Given the description of an element on the screen output the (x, y) to click on. 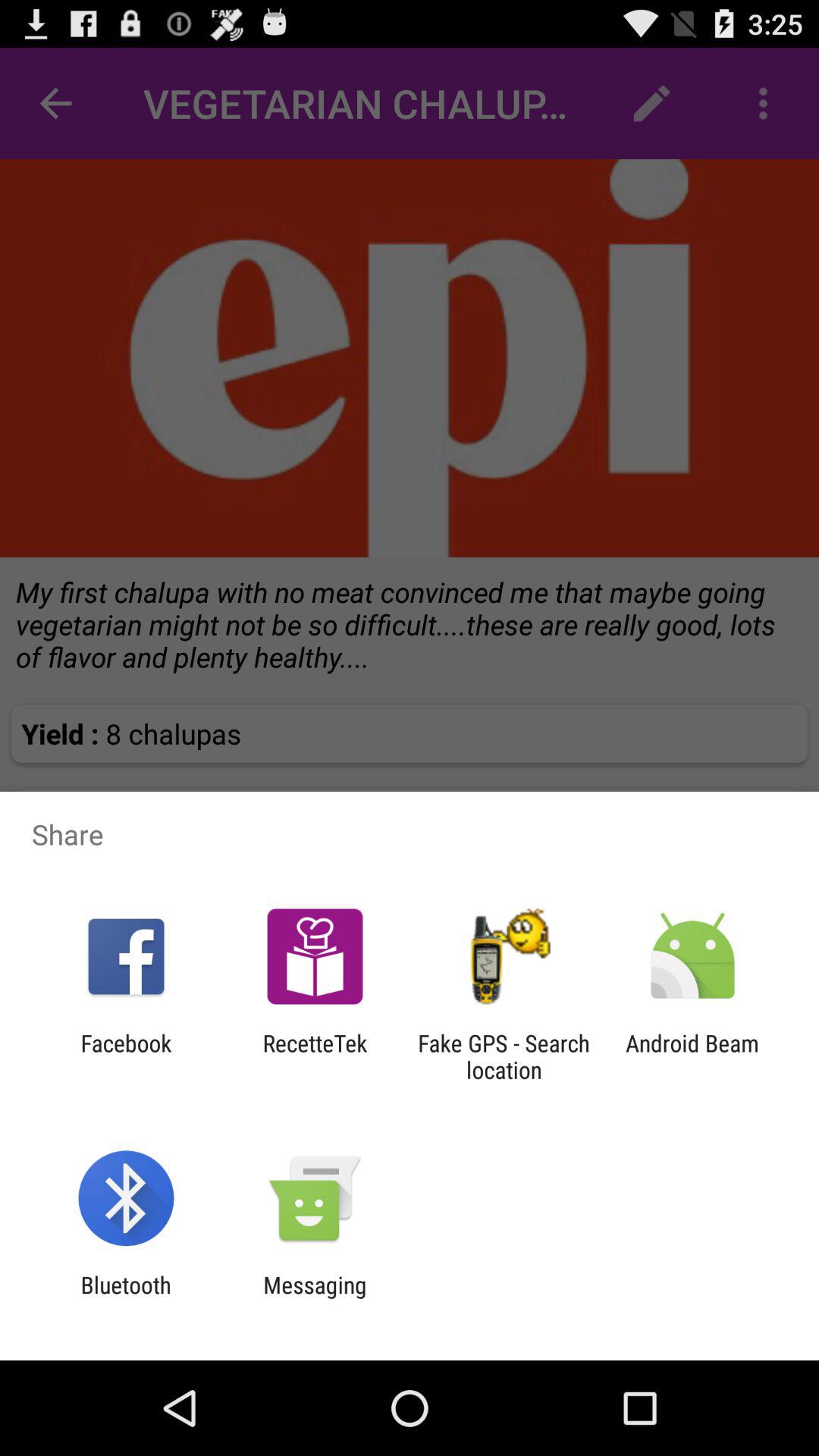
press the item to the left of messaging (125, 1298)
